Given the description of an element on the screen output the (x, y) to click on. 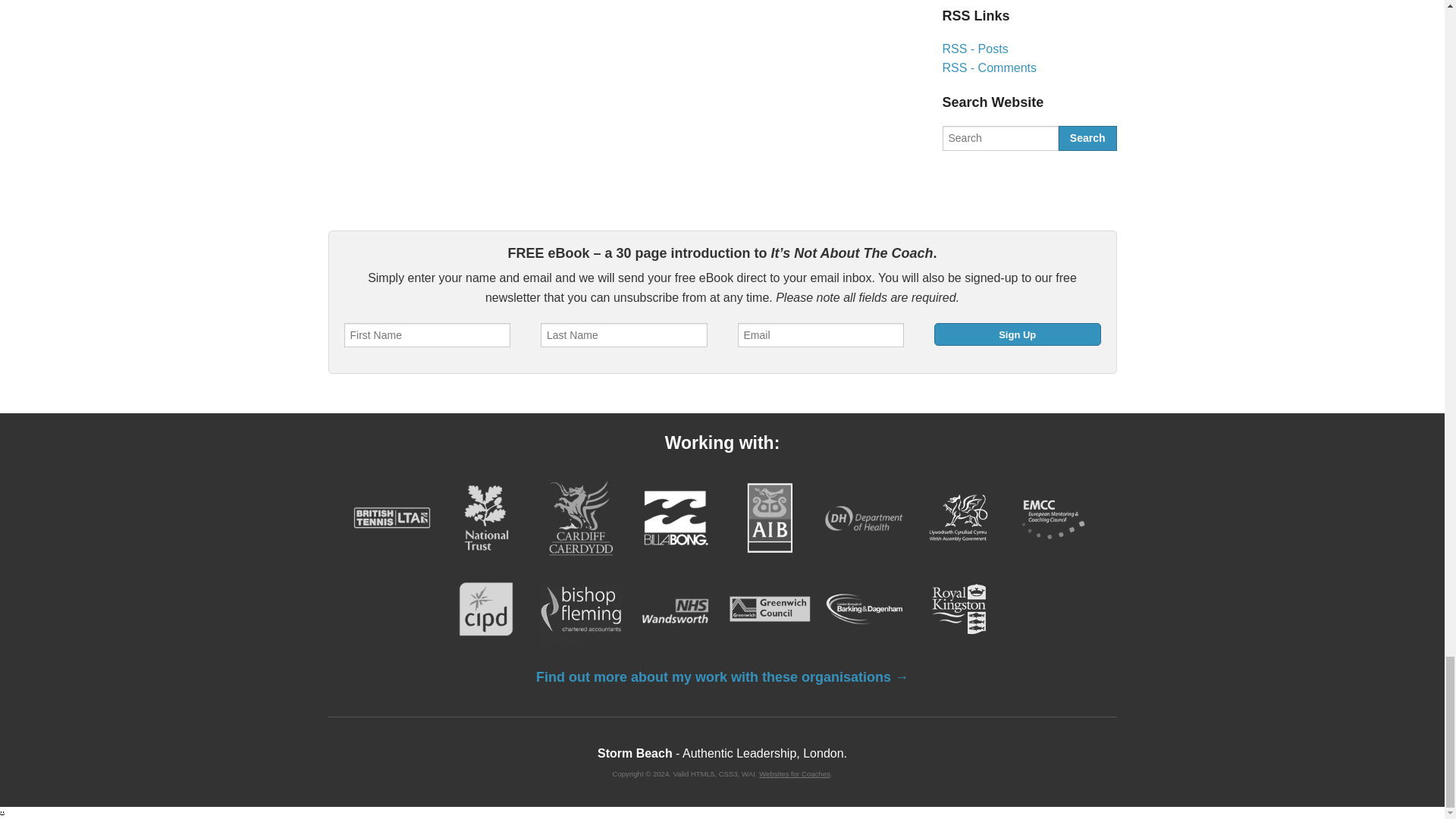
Search (1087, 137)
Sign Up (1017, 333)
